Given the description of an element on the screen output the (x, y) to click on. 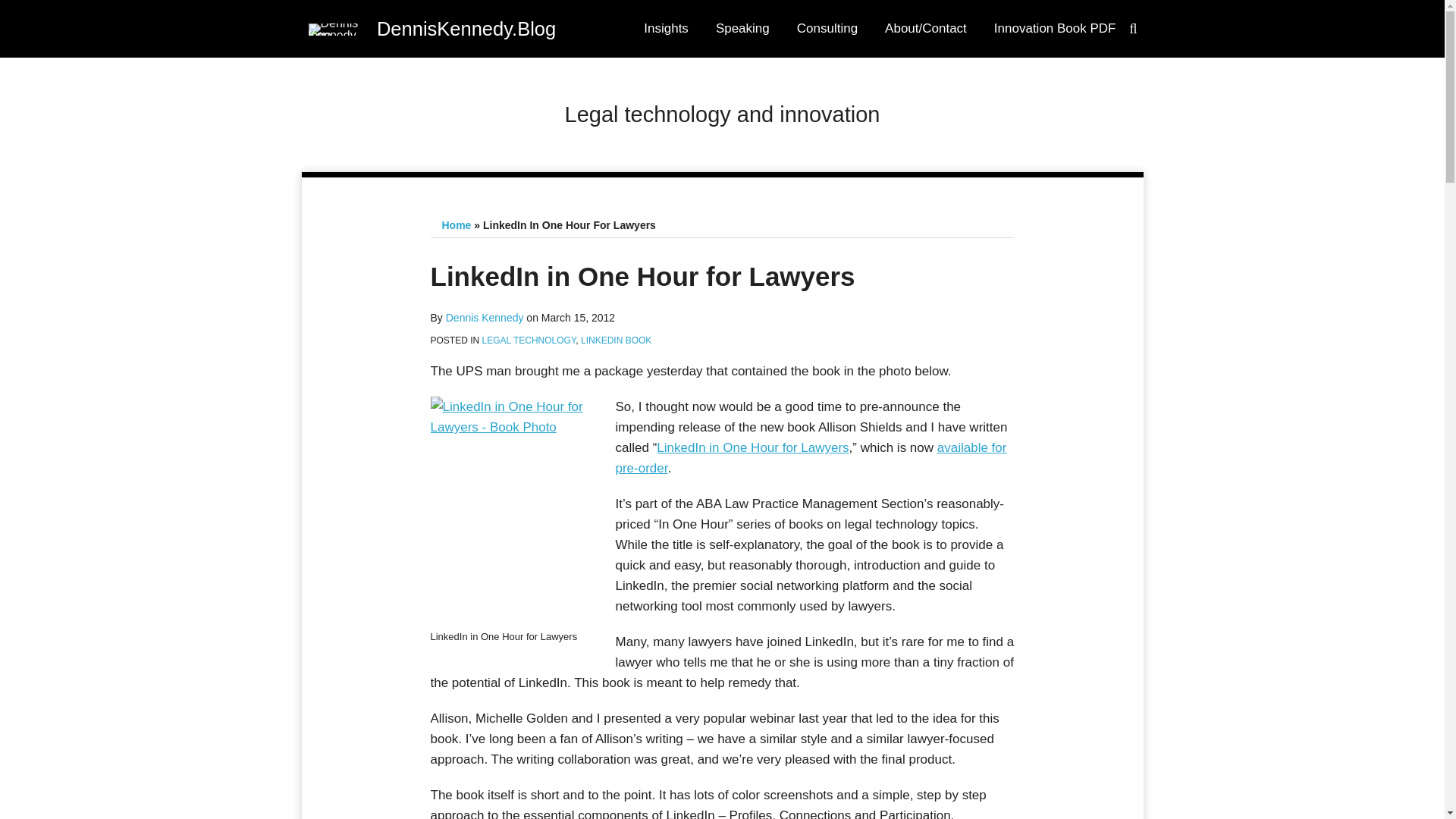
Innovation Book PDF (1055, 28)
LINKEDIN BOOK (615, 339)
Home (455, 224)
Speaking (743, 28)
available for pre-order (811, 457)
LEGAL TECHNOLOGY (528, 339)
LinkedIn in One Hour for Lawyers (752, 447)
Insights (665, 28)
DennisKennedy.Blog (466, 27)
Dennis Kennedy (484, 317)
Consulting (826, 28)
